Given the description of an element on the screen output the (x, y) to click on. 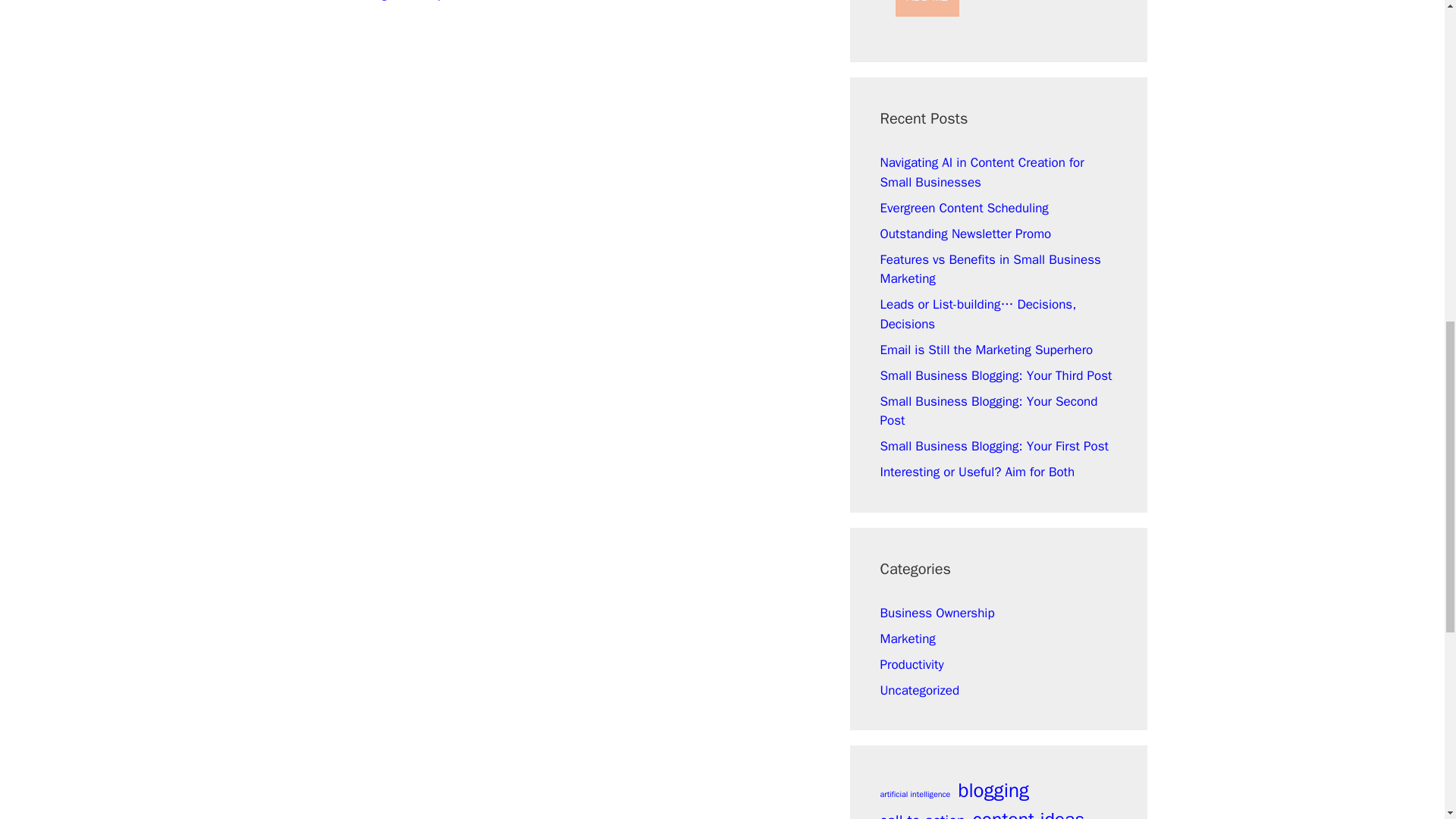
Evergreen Content Scheduling (963, 207)
Marketing (906, 638)
Small Business Blogging: Your Second Post (988, 411)
Small Business Blogging: Your Third Post (995, 375)
Your Marketing Made Easy (378, 0)
Productivity (911, 664)
Interesting or Useful? Aim for Both (976, 471)
Outstanding Newsletter Promo (965, 233)
Email is Still the Marketing Superhero (986, 349)
Scroll back to top (1406, 720)
Uncategorized (919, 690)
Business Ownership (936, 612)
ADD ME (926, 8)
Small Business Blogging: Your First Post (993, 446)
Navigating AI in Content Creation for Small Businesses (981, 172)
